Given the description of an element on the screen output the (x, y) to click on. 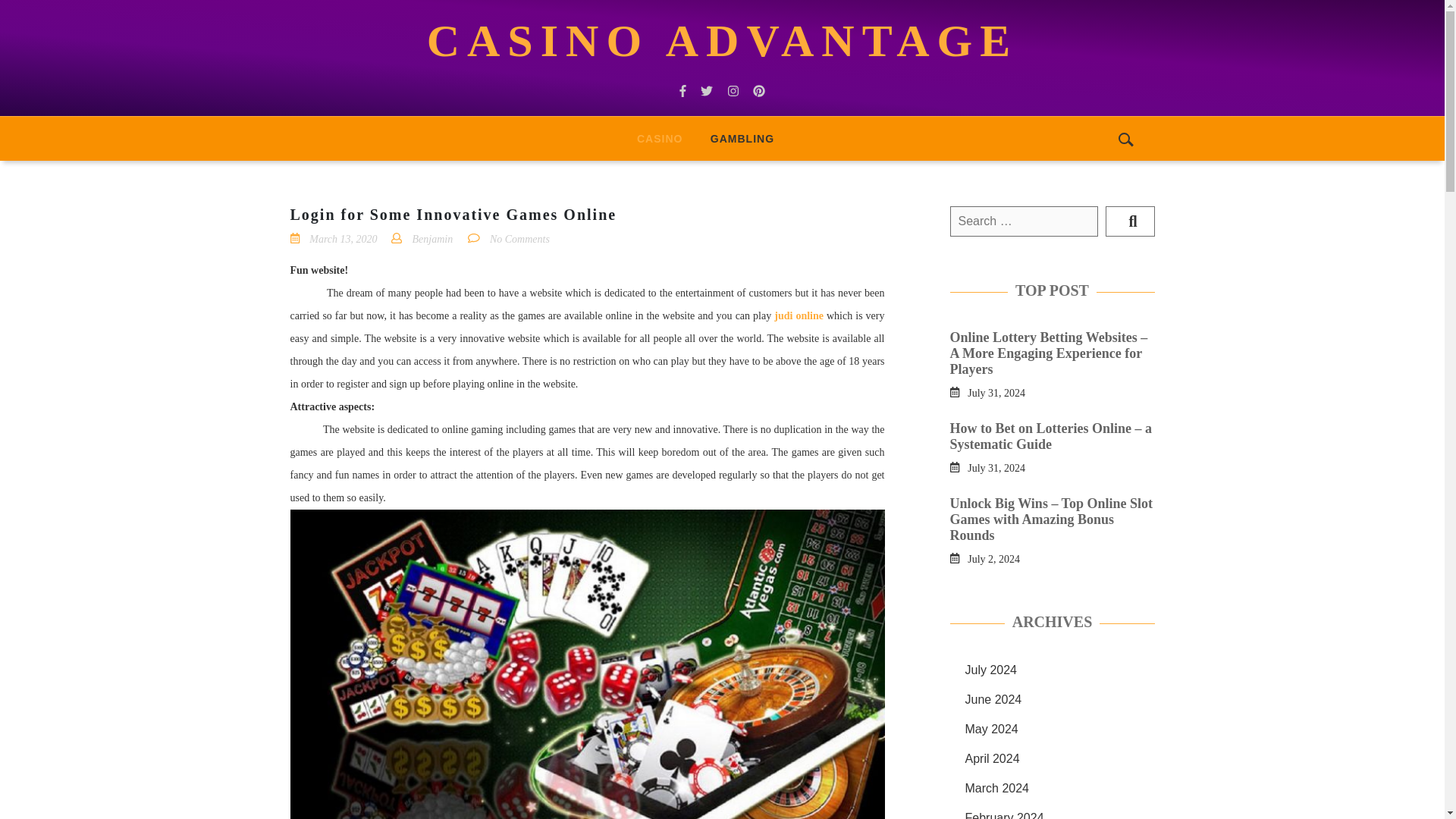
GAMBLING (742, 138)
Search (1129, 221)
judi online (799, 315)
Search (1129, 221)
Benjamin (432, 238)
CASINO ADVANTAGE (721, 40)
February 2024 (1003, 815)
July 2024 (989, 669)
Search (1129, 221)
Gambling (742, 138)
